Given the description of an element on the screen output the (x, y) to click on. 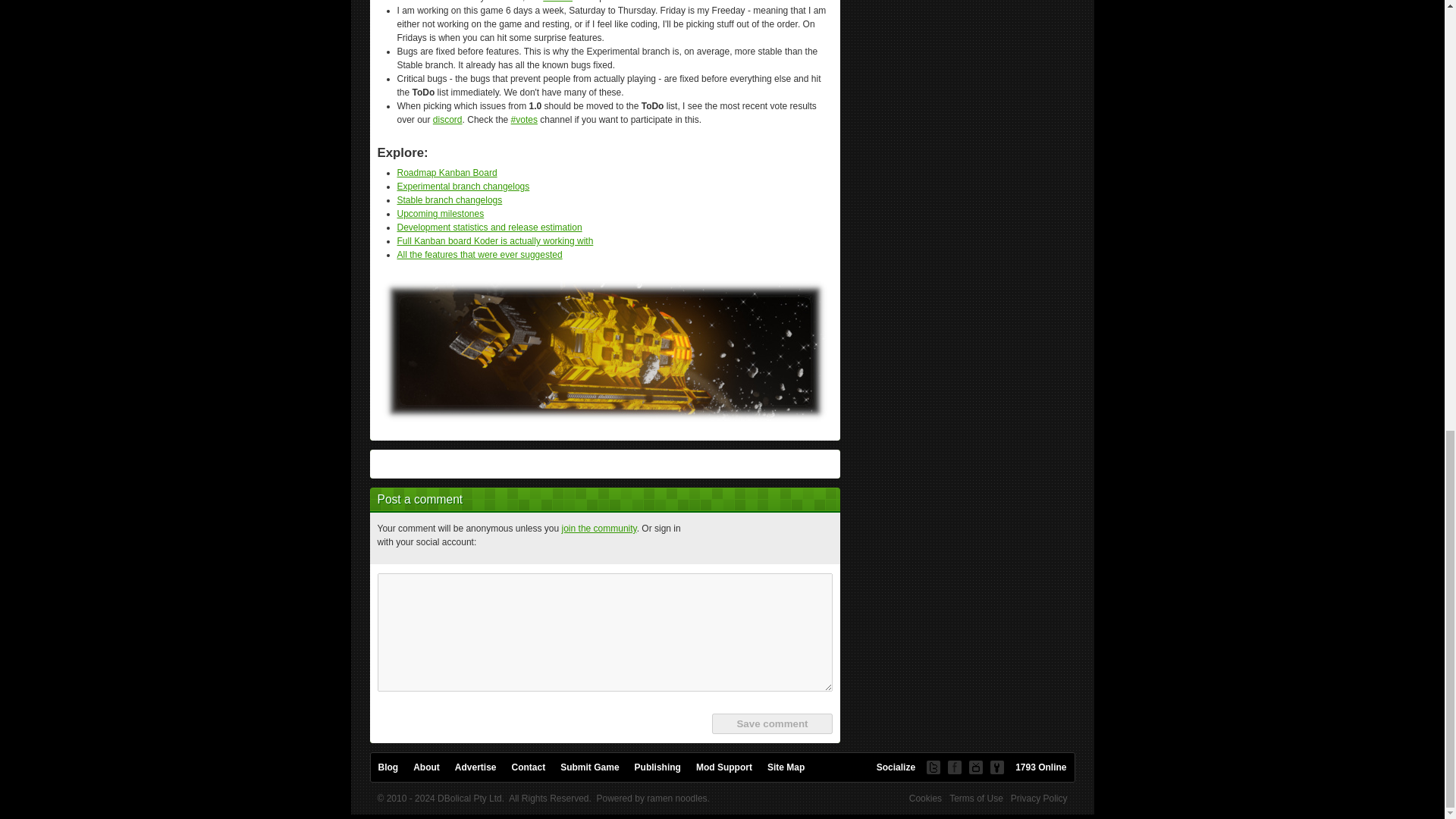
Save comment (771, 723)
Click to connect via Twitter (744, 538)
Click to connect via Google (780, 538)
Click to connect via Steam (816, 538)
Click to connect via Facebook (707, 538)
